Given the description of an element on the screen output the (x, y) to click on. 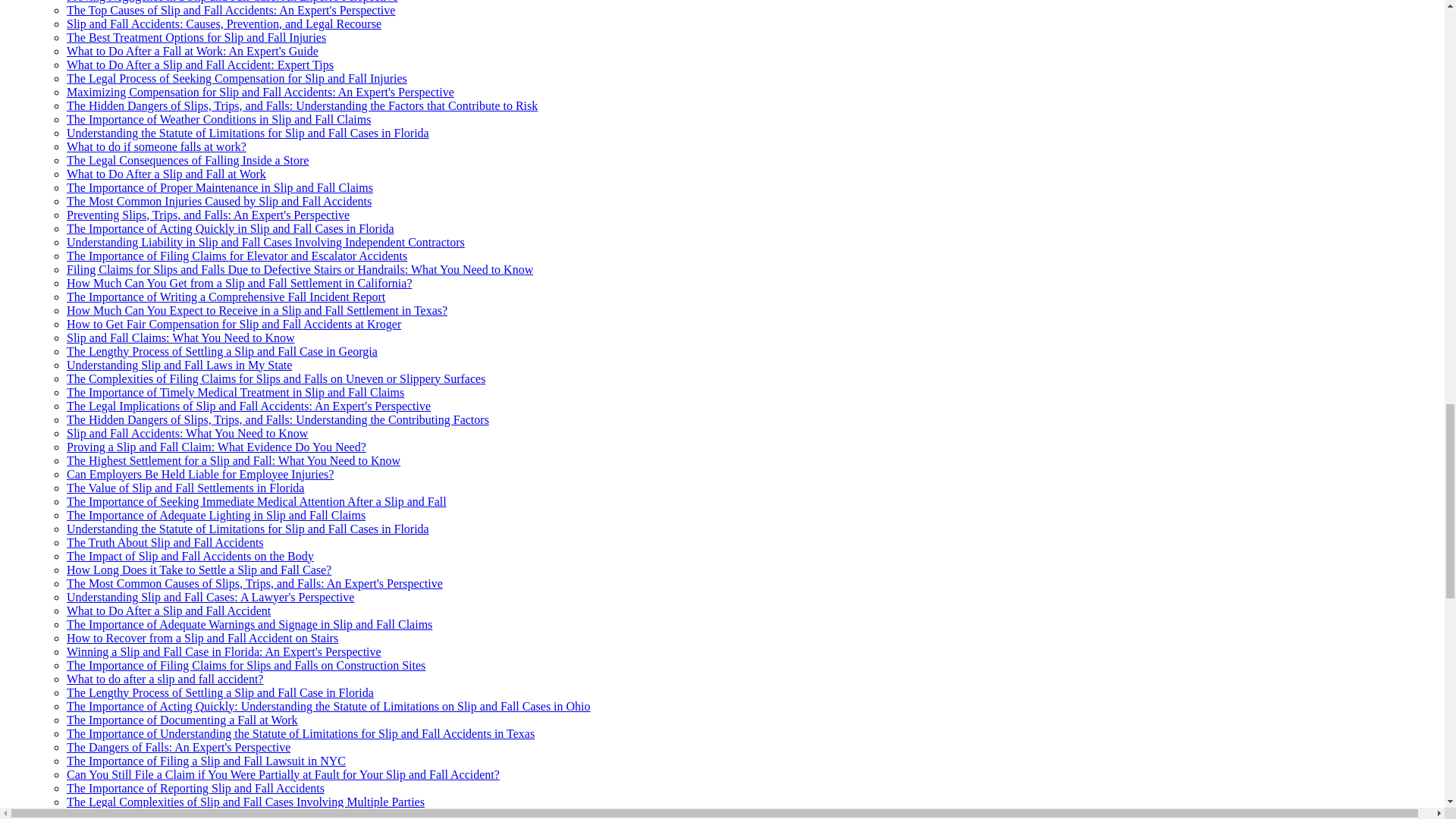
What to Do After a Fall at Work: An Expert's Guide (192, 51)
The Best Treatment Options for Slip and Fall Injuries (196, 37)
